Given the description of an element on the screen output the (x, y) to click on. 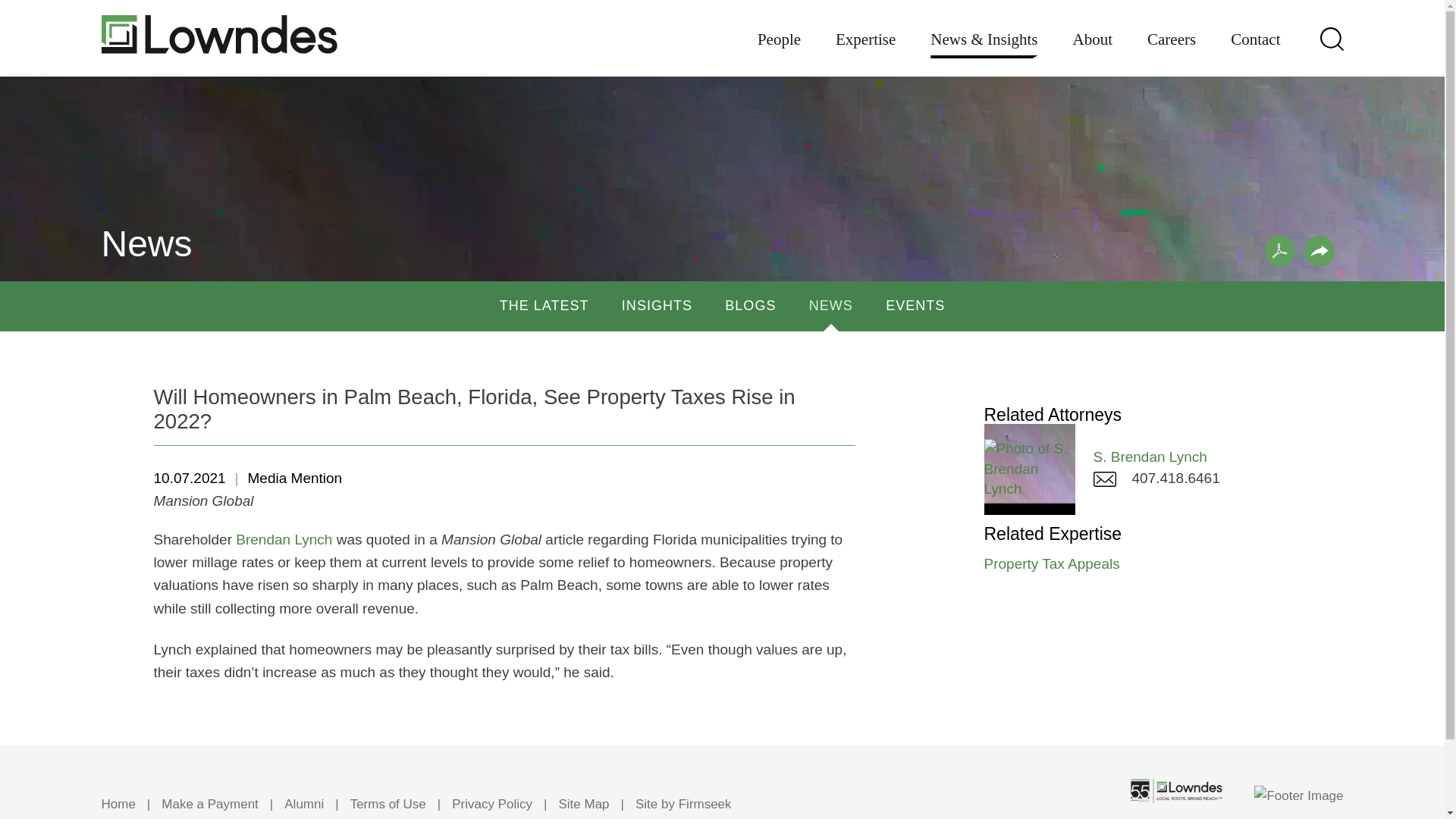
Main Content (667, 19)
Brendan Lynch Bio (283, 539)
Careers (1170, 49)
Share (1319, 250)
People (778, 49)
Print PDF (1280, 250)
Main Menu (674, 19)
Expertise (865, 49)
Search (1330, 38)
Menu (674, 19)
About (1093, 49)
Contact (1254, 49)
